Given the description of an element on the screen output the (x, y) to click on. 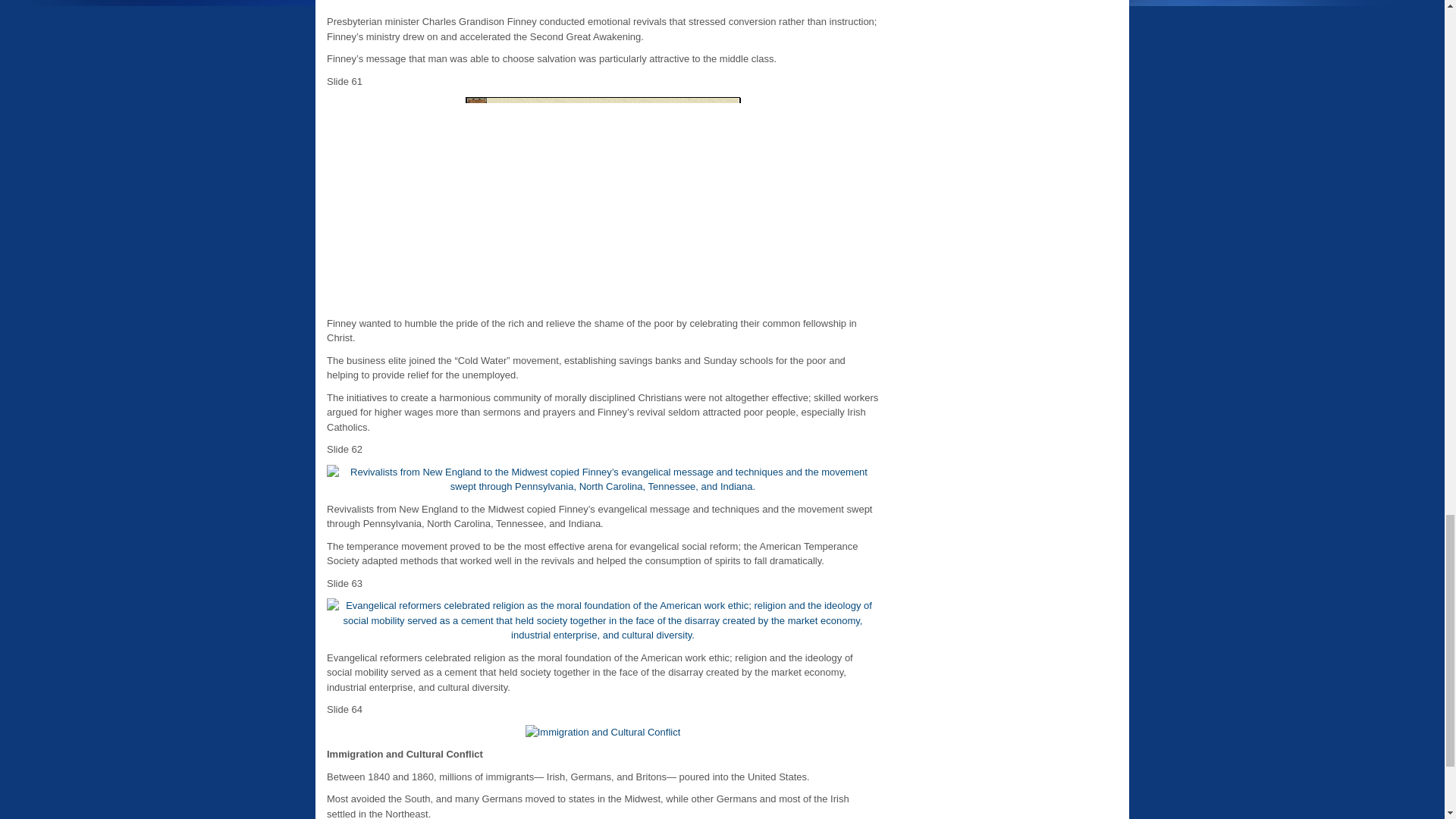
Immigration and Cultural Conflict (603, 732)
